Given the description of an element on the screen output the (x, y) to click on. 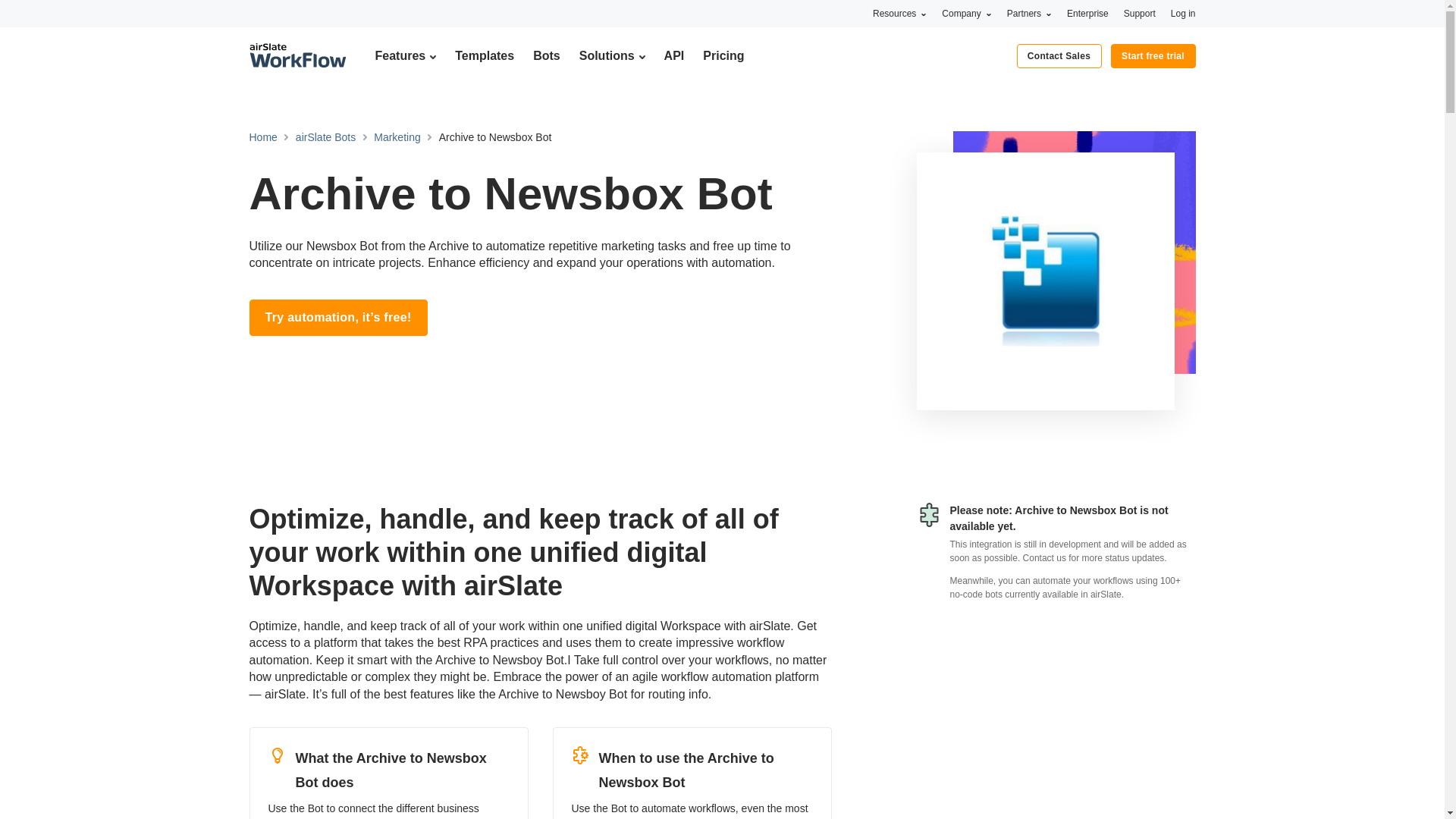
Resources (899, 13)
Company (966, 13)
Templates (483, 55)
Log in (1182, 13)
Support (1140, 13)
Enterprise (1087, 13)
Partners (1029, 13)
